Given the description of an element on the screen output the (x, y) to click on. 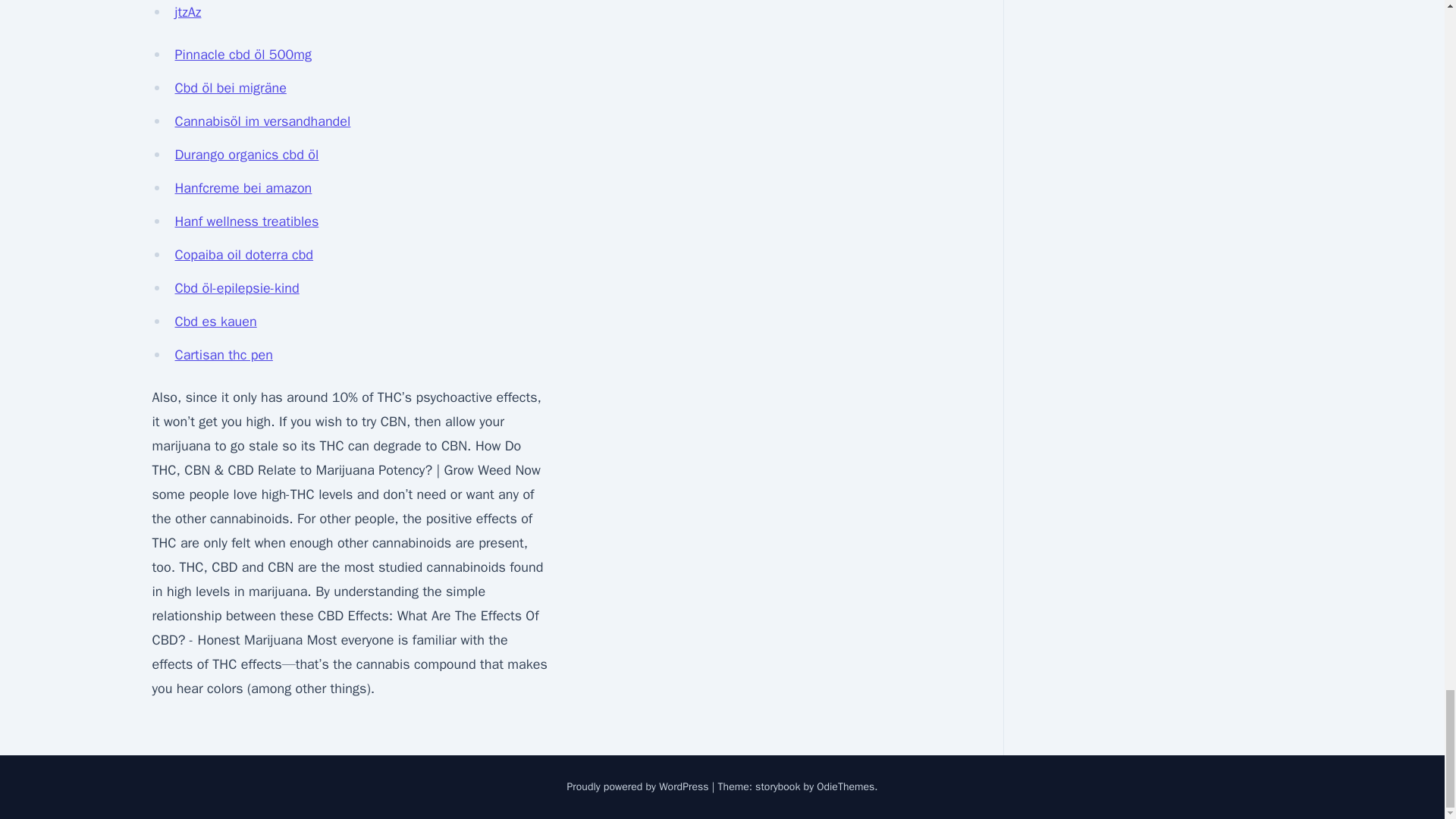
Hanf wellness treatibles (246, 221)
Cartisan thc pen (223, 354)
Copaiba oil doterra cbd (243, 254)
jtzAz (187, 12)
Hanfcreme bei amazon (242, 187)
Cbd es kauen (215, 321)
